Given the description of an element on the screen output the (x, y) to click on. 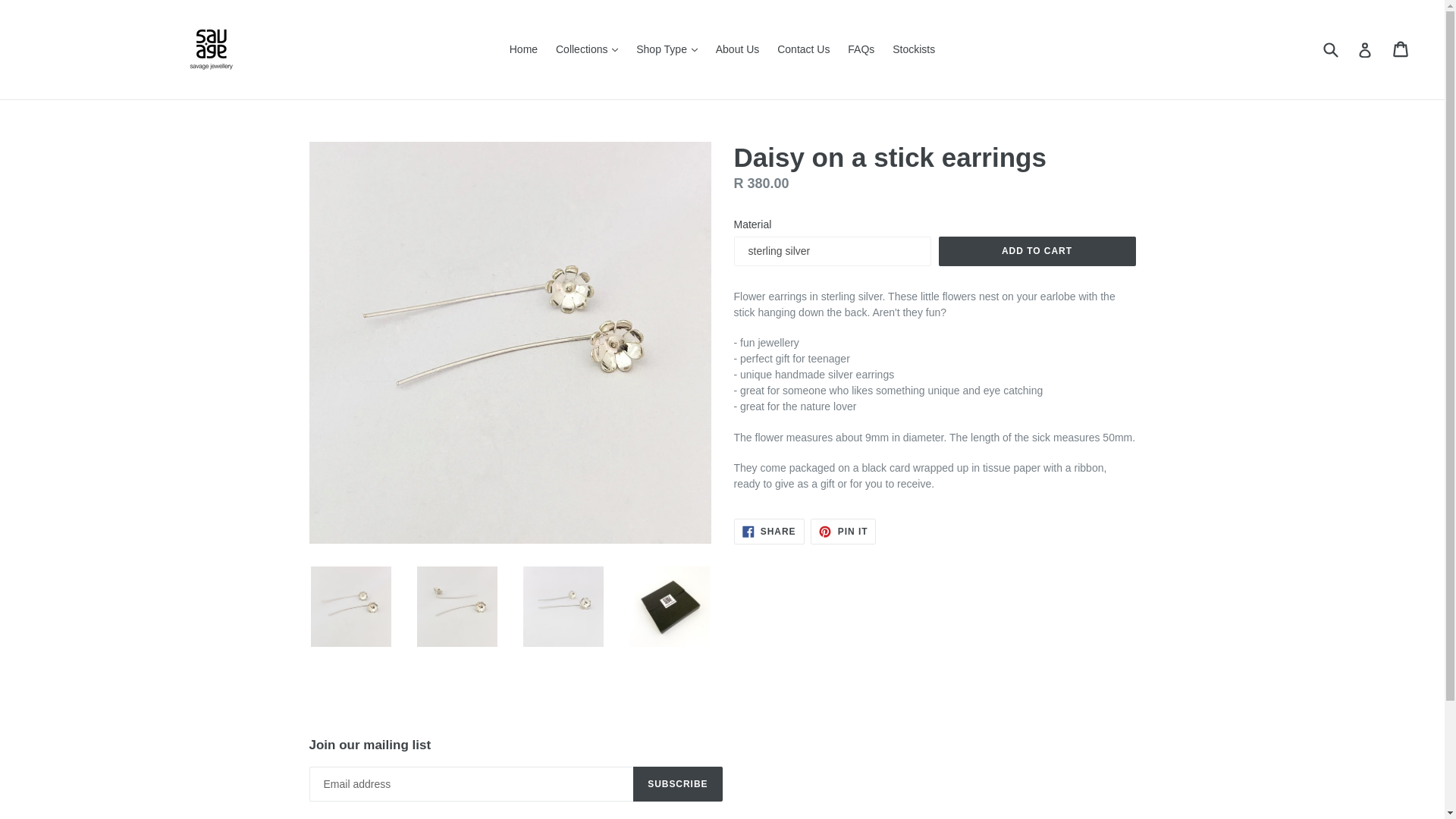
Share on Facebook (769, 531)
Pin on Pinterest (843, 531)
